Given the description of an element on the screen output the (x, y) to click on. 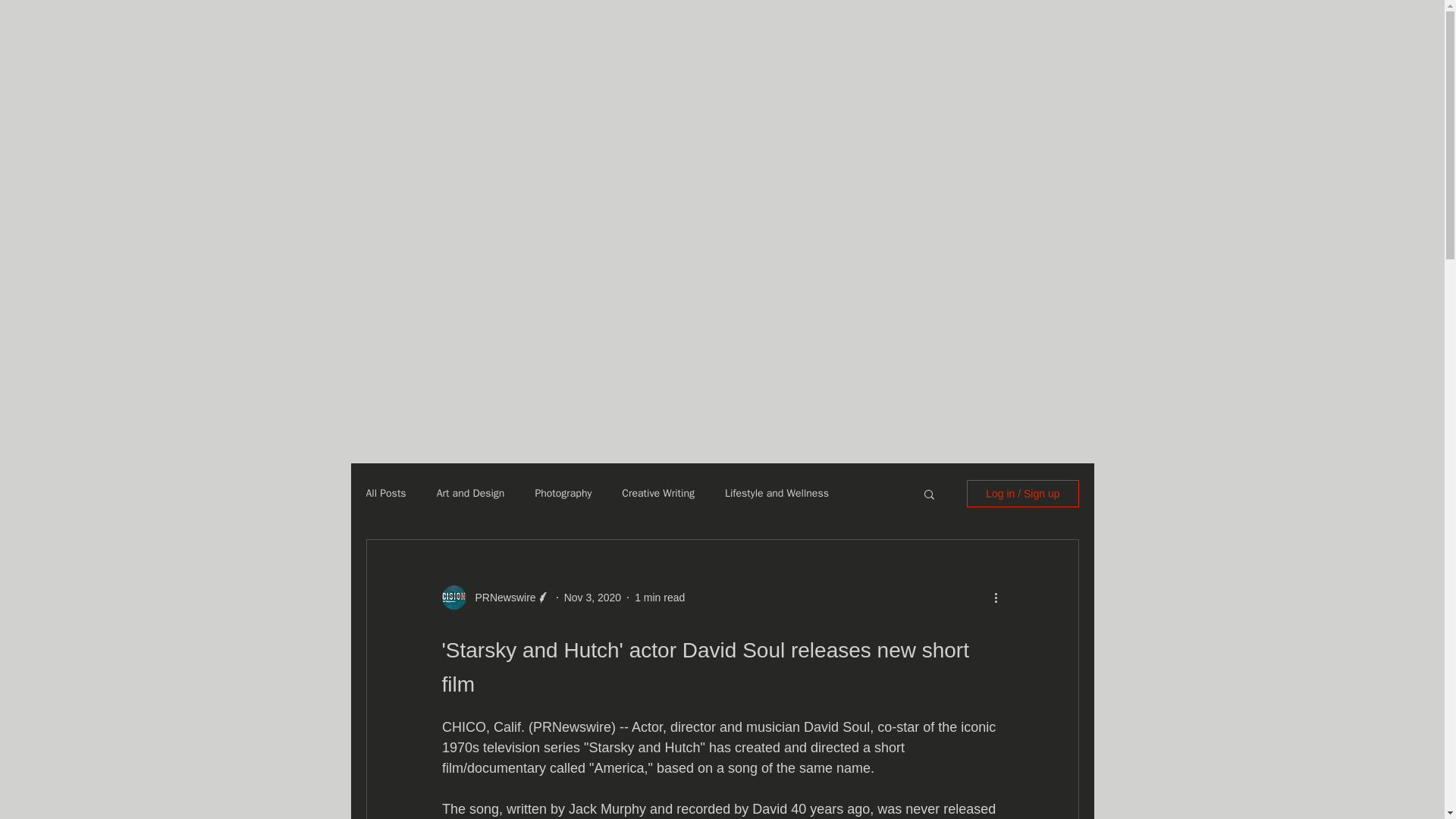
1 min read (659, 597)
Nov 3, 2020 (592, 597)
Photography (562, 493)
Art and Design (470, 493)
Lifestyle and Wellness (776, 493)
All Posts (385, 493)
PRNewswire (500, 597)
Creative Writing (657, 493)
